Given the description of an element on the screen output the (x, y) to click on. 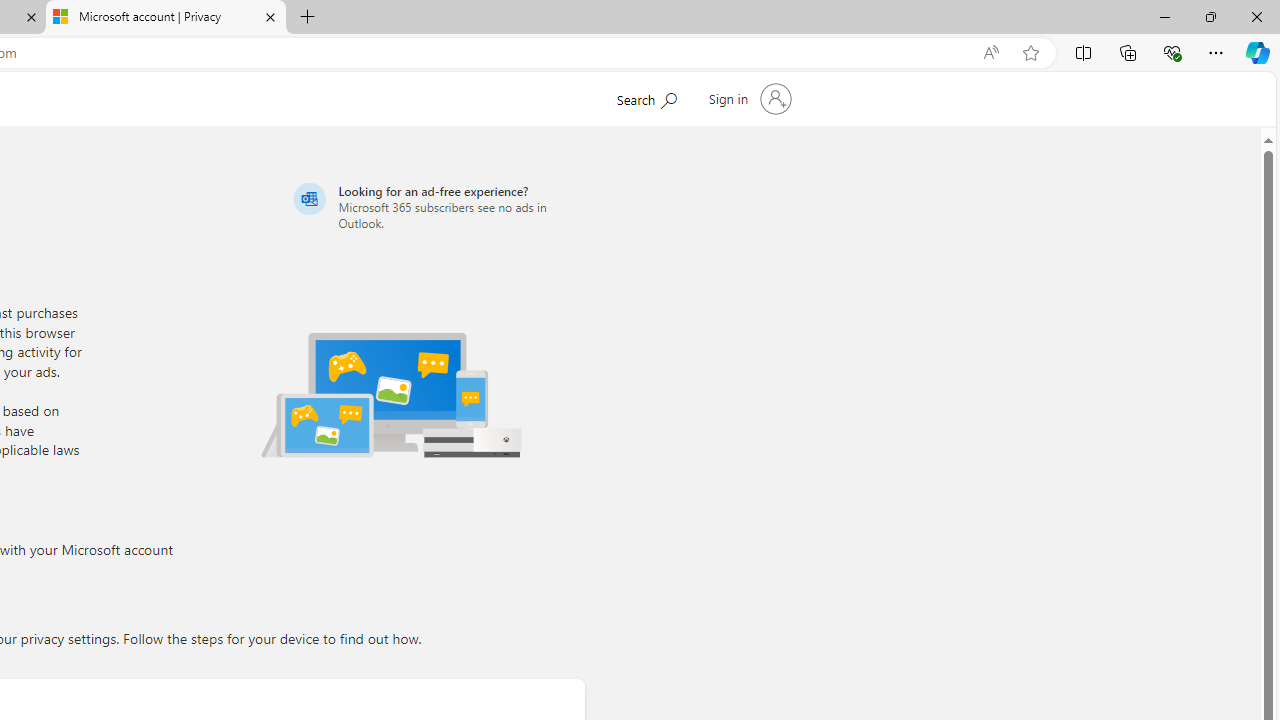
Minimize (1164, 16)
Sign in to your account (748, 98)
Settings and more (Alt+F) (1215, 52)
Close tab (270, 16)
Split screen (1083, 52)
Browser essentials (1171, 52)
Looking for an ad-free experience? (436, 206)
Search Microsoft.com (646, 97)
Microsoft account | Privacy (166, 17)
New Tab (308, 17)
Illustration of multiple devices (391, 394)
Copilot (Ctrl+Shift+.) (1258, 52)
Read aloud this page (Ctrl+Shift+U) (991, 53)
Collections (1128, 52)
Add this page to favorites (Ctrl+D) (1030, 53)
